Given the description of an element on the screen output the (x, y) to click on. 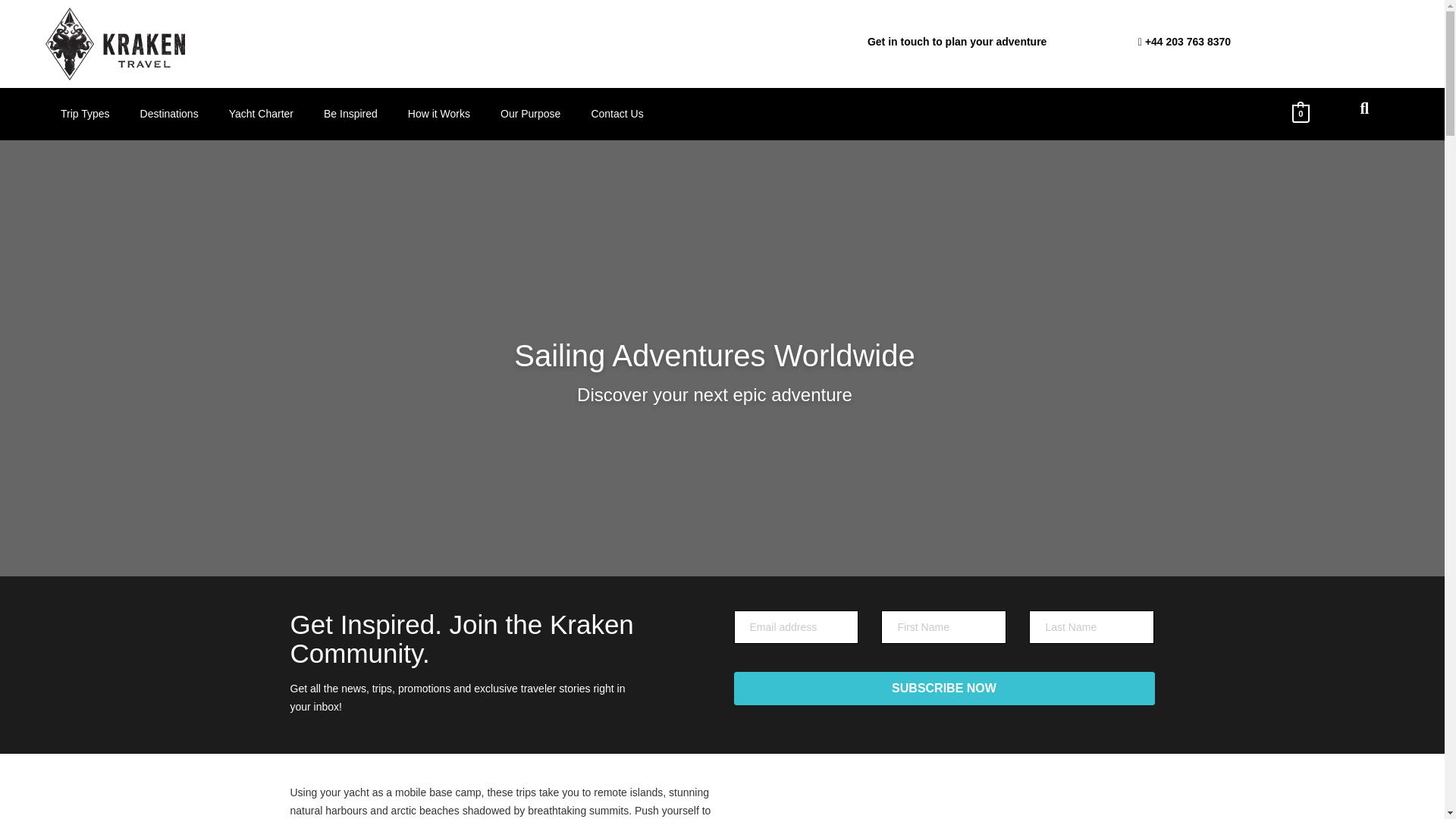
Trip Types (85, 113)
Subscribe Now (943, 688)
Destinations (169, 113)
View your shopping cart (1300, 112)
